Given the description of an element on the screen output the (x, y) to click on. 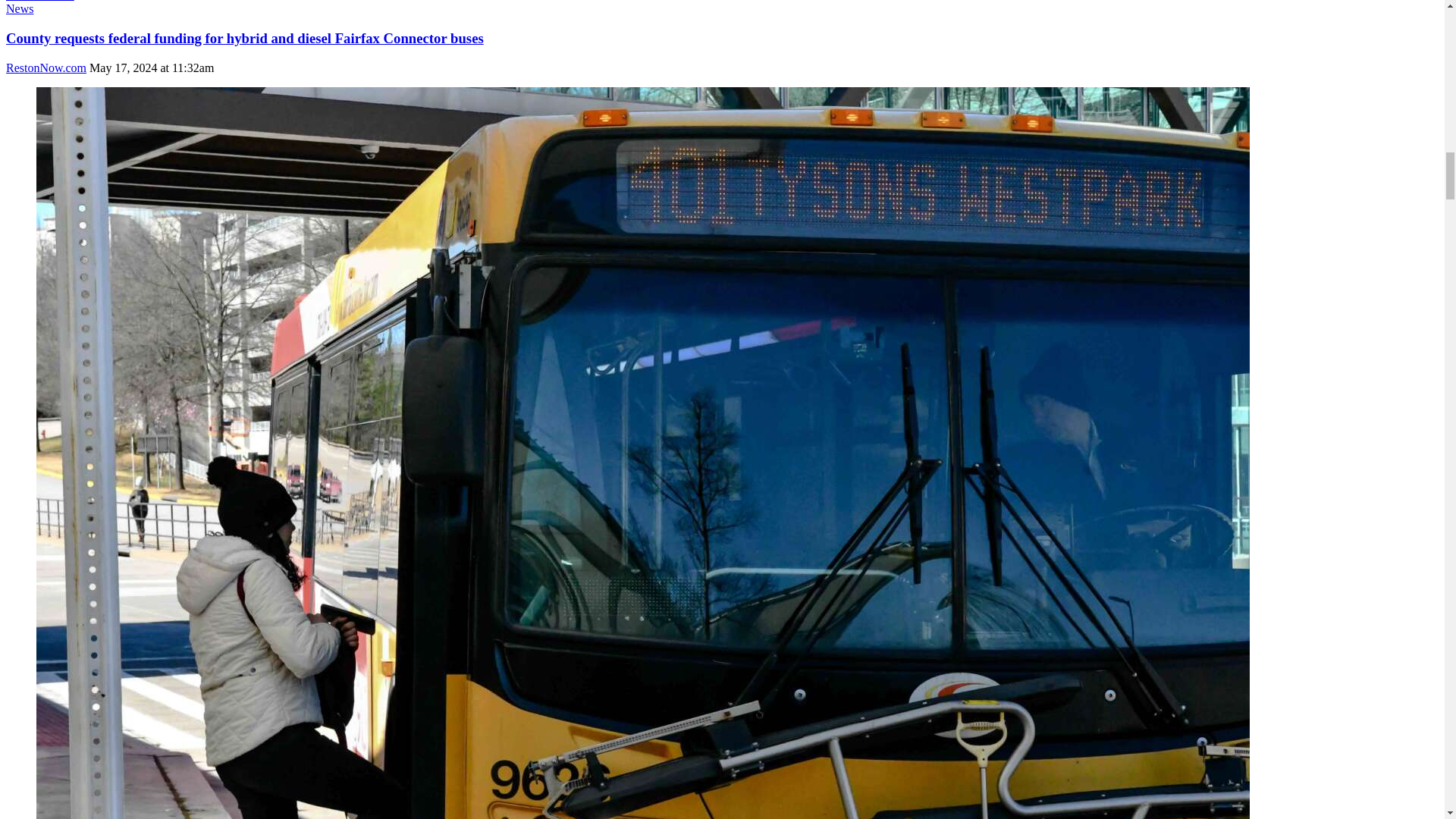
News (19, 8)
Posts by RestonNow.com (45, 66)
